Given the description of an element on the screen output the (x, y) to click on. 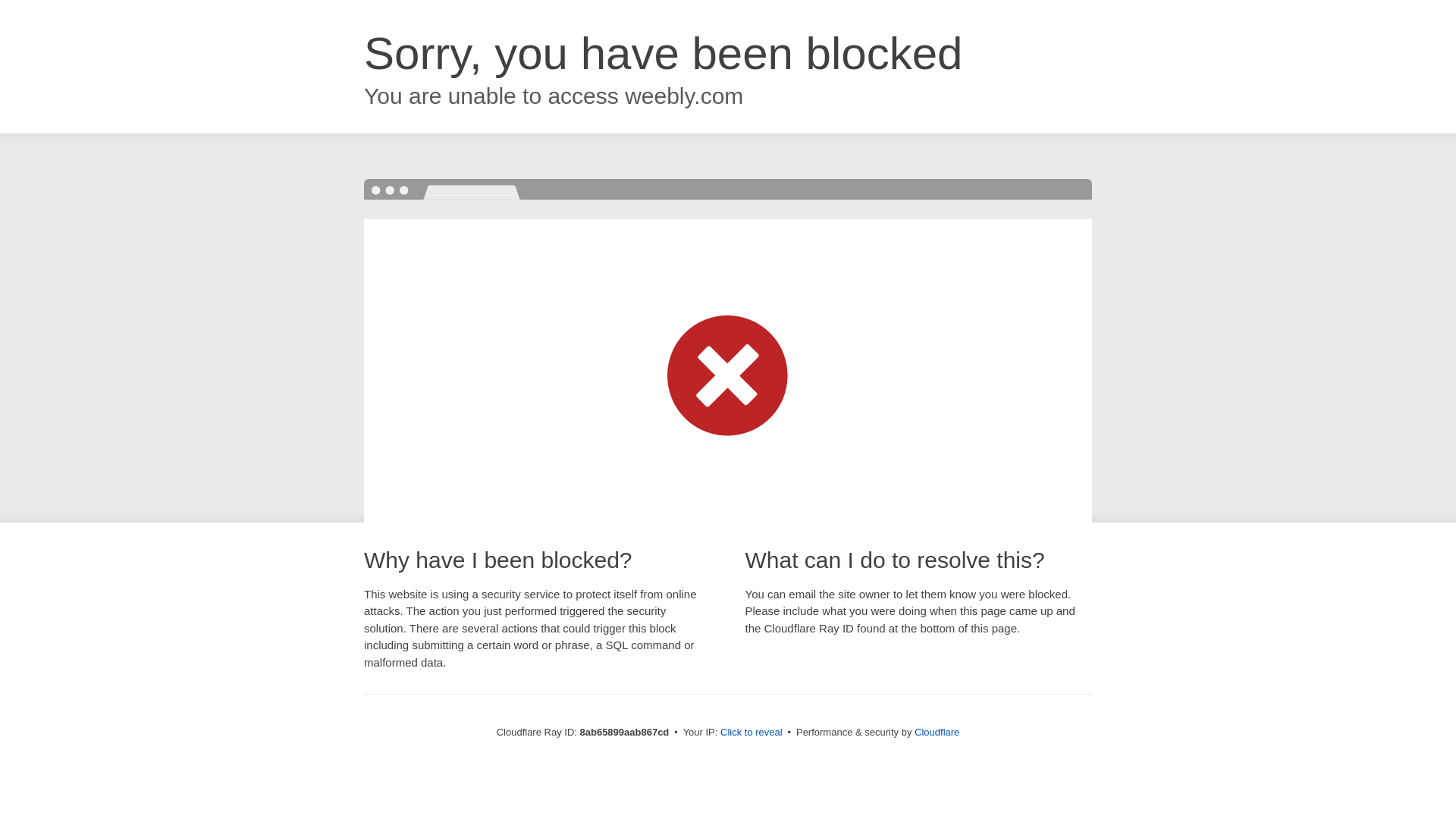
Click to reveal (751, 732)
Cloudflare (936, 731)
